Given the description of an element on the screen output the (x, y) to click on. 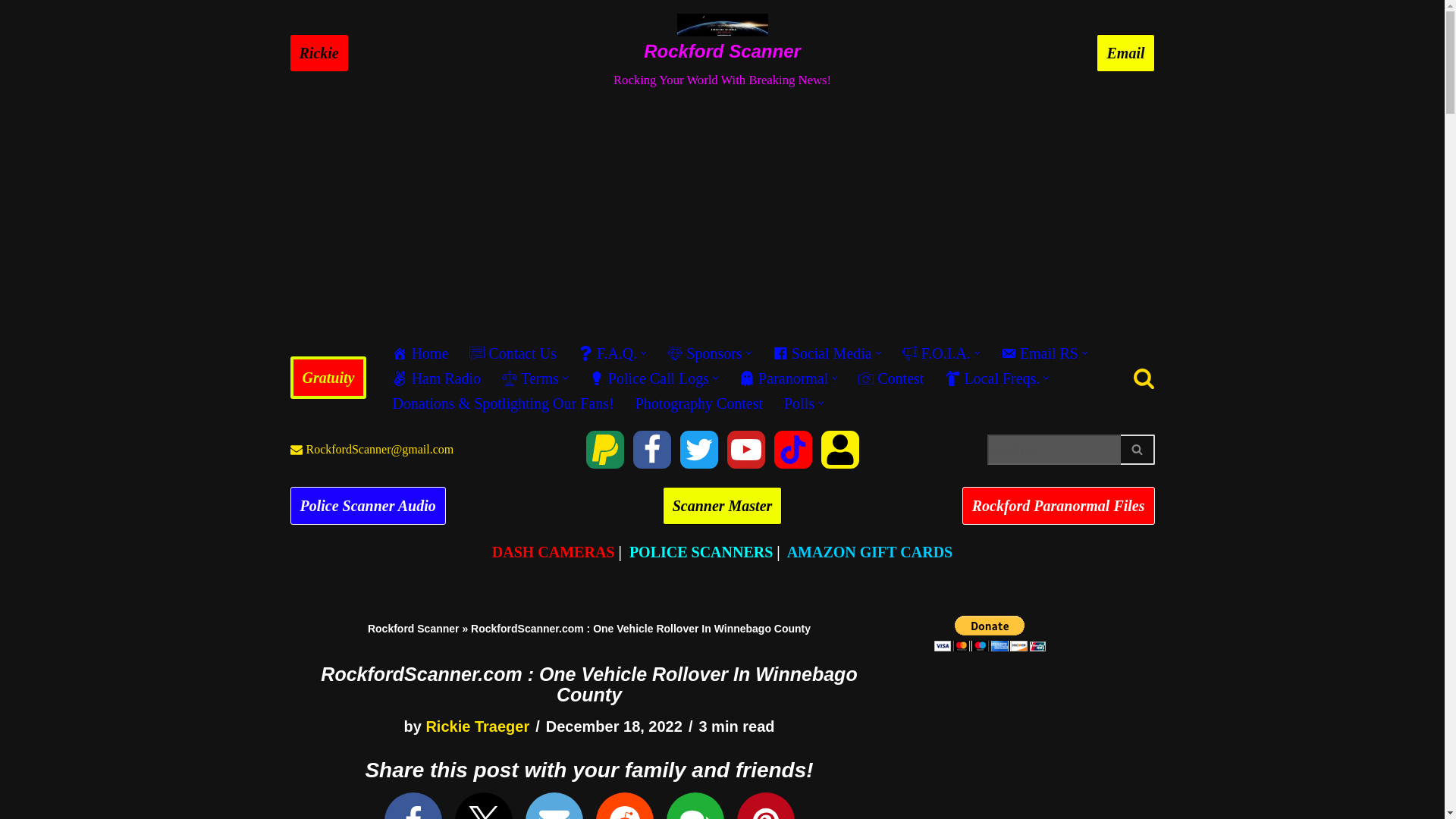
Ham Radio (435, 377)
Email (1125, 53)
Sponsors (703, 352)
Contest (891, 377)
Rickie (318, 53)
Home (419, 352)
Social Media (822, 352)
Youtube (745, 449)
Local Freqs. (991, 377)
F.O.I.A. (936, 352)
Photography Contest (698, 402)
Paranormal (783, 377)
Gratuity (604, 449)
Police Call Logs (649, 377)
